Given the description of an element on the screen output the (x, y) to click on. 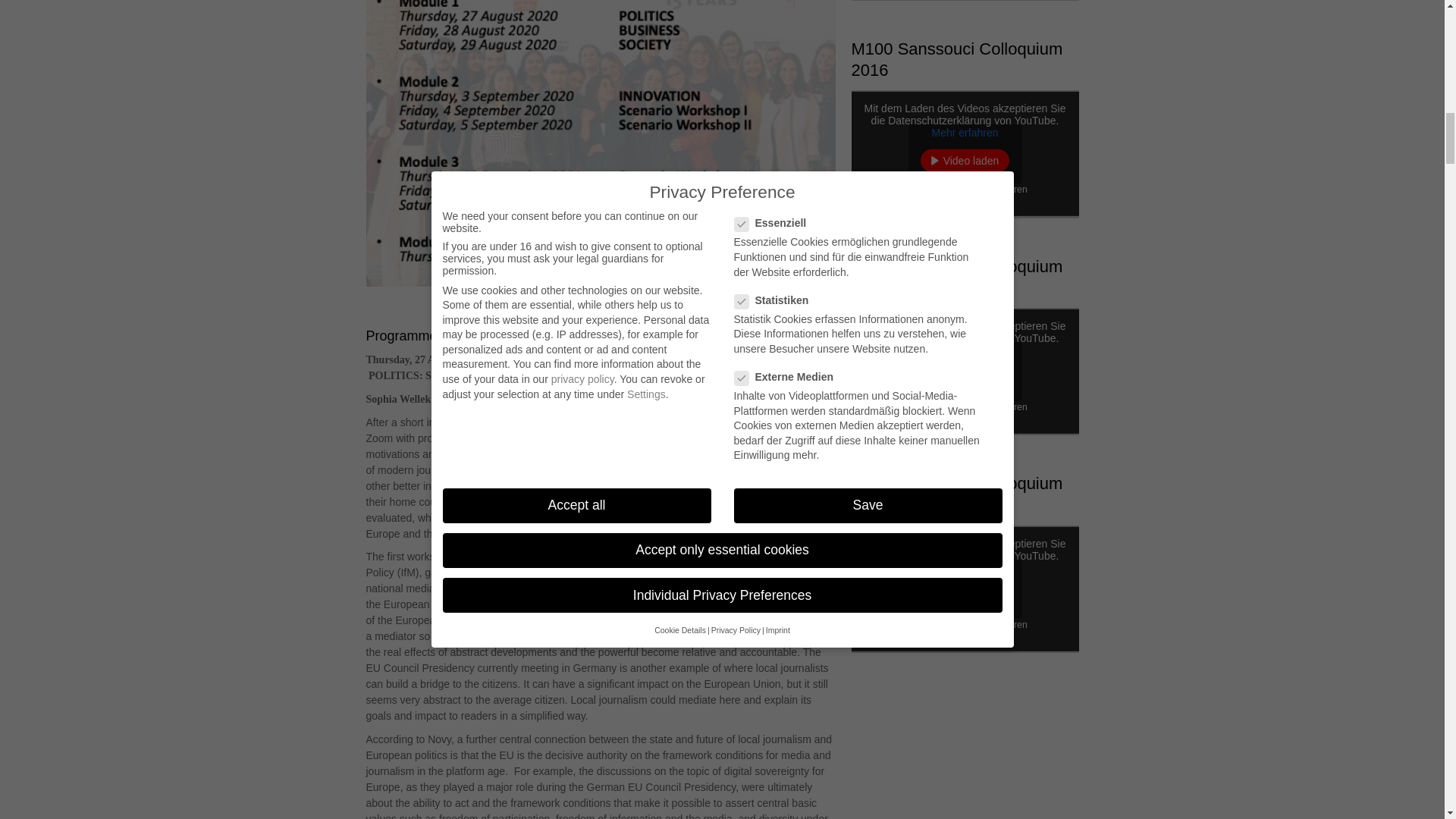
1 (907, 624)
1 (907, 189)
1 (907, 407)
